Given the description of an element on the screen output the (x, y) to click on. 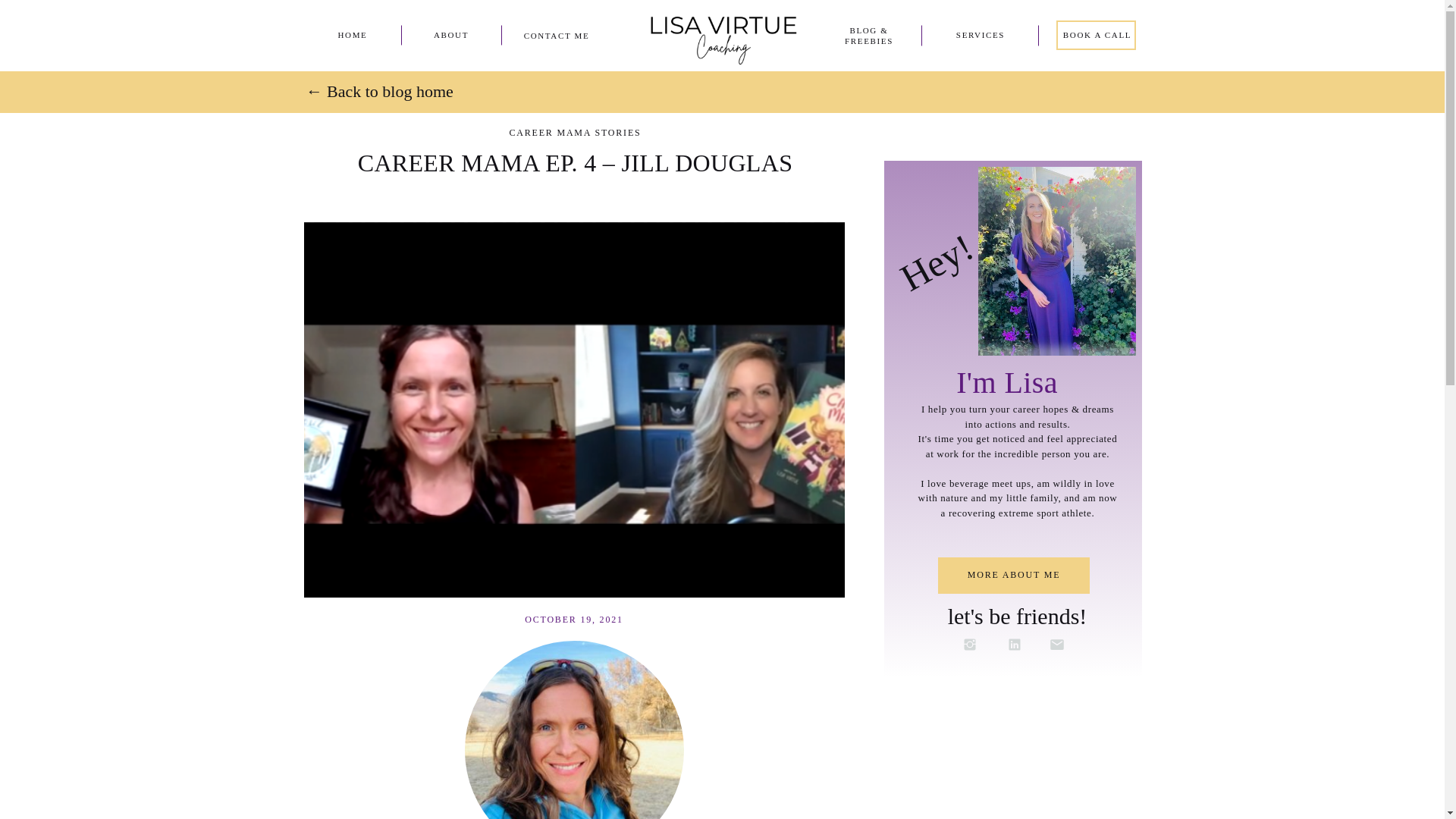
HOME (352, 34)
CAREER MAMA STORIES (574, 132)
BOOK A CALL (1096, 34)
SERVICES (979, 34)
MORE ABOUT ME (1013, 575)
CONTACT ME (556, 35)
ABOUT (450, 34)
